Given the description of an element on the screen output the (x, y) to click on. 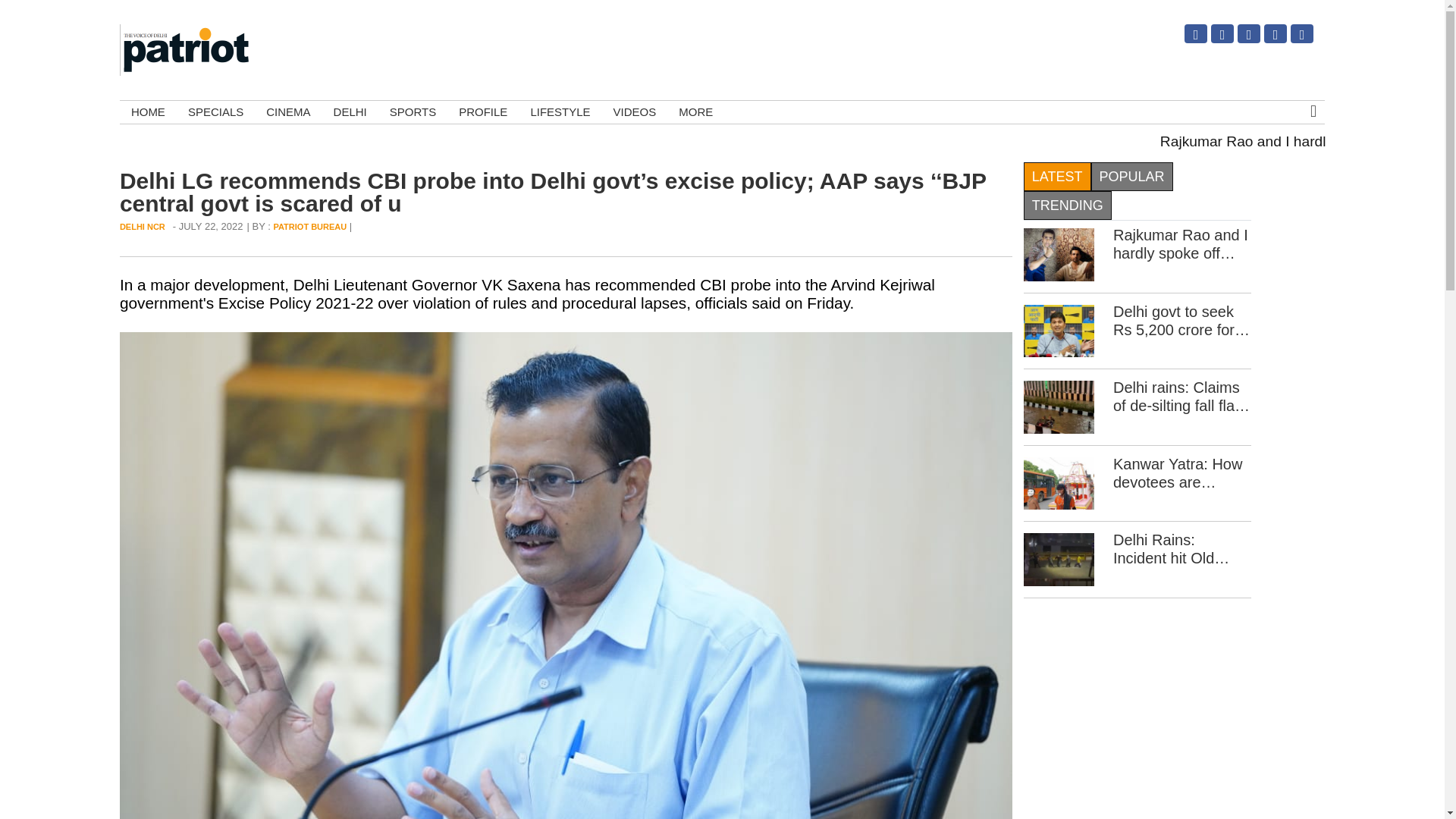
DELHI NCR (142, 225)
Search (1293, 184)
Linkedin (1266, 39)
PATRIOT BUREAU (309, 225)
MORE (694, 111)
CINEMA (287, 111)
HOME (147, 111)
DELHI (349, 111)
SPORTS (412, 111)
